Given the description of an element on the screen output the (x, y) to click on. 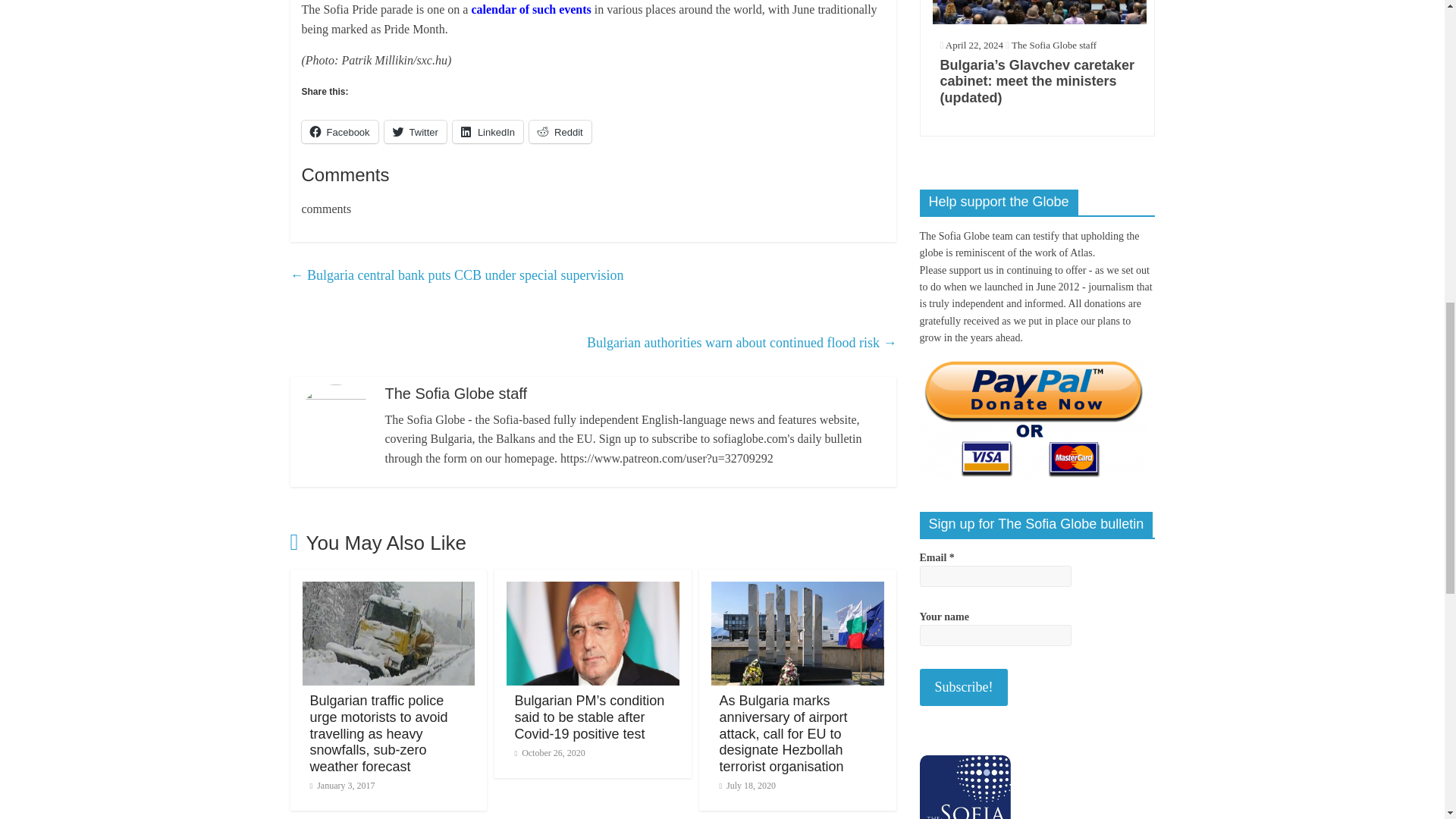
LinkedIn (487, 131)
Facebook (339, 131)
Twitter (415, 131)
Click to share on Twitter (415, 131)
5:35 PM (549, 752)
Subscribe! (962, 687)
Click to share on Reddit (560, 131)
Click to share on Facebook (339, 131)
7:08 PM (341, 785)
October 26, 2020 (549, 752)
Click to share on LinkedIn (487, 131)
calendar of such events (530, 9)
